Given the description of an element on the screen output the (x, y) to click on. 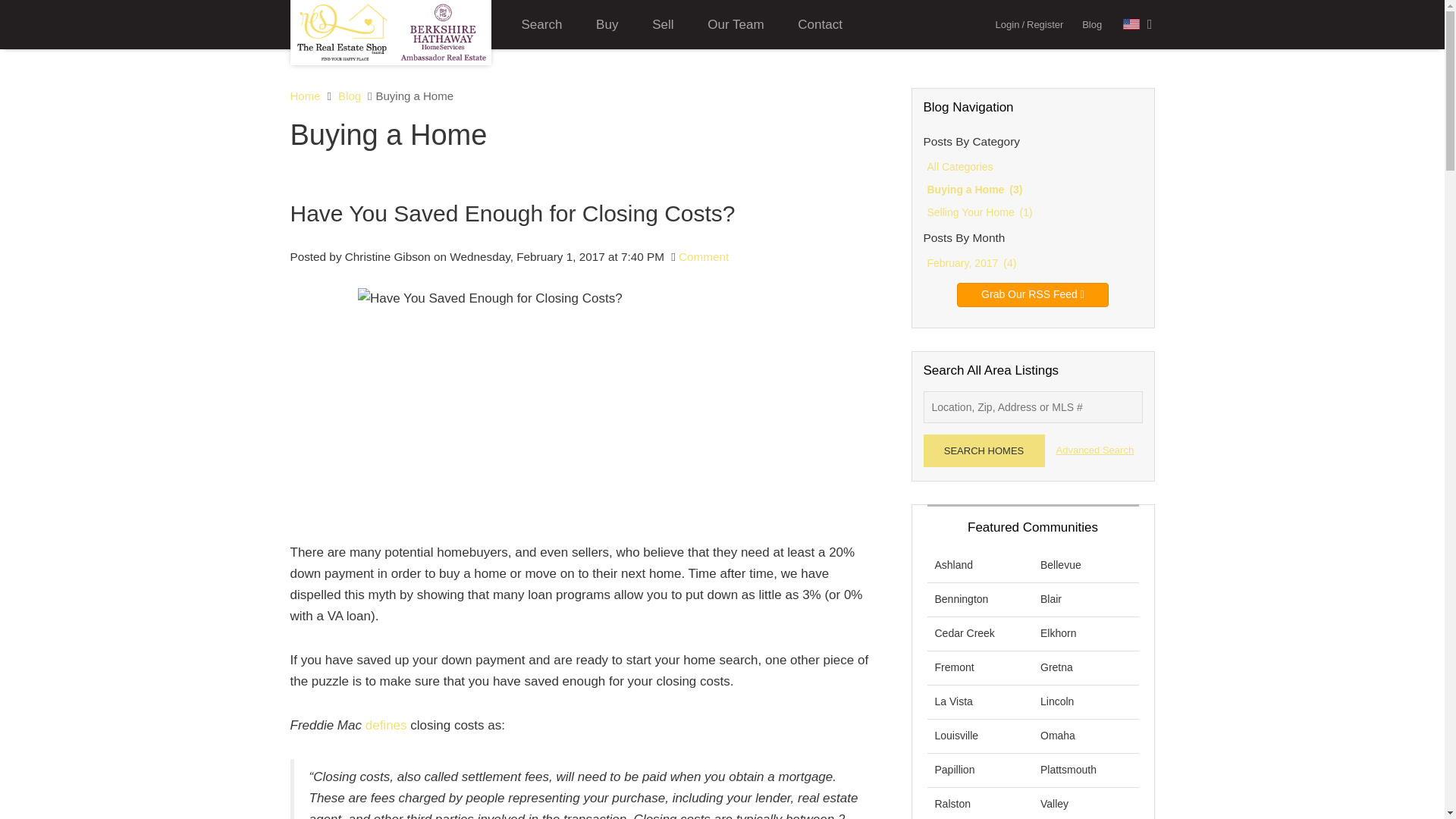
Select Language (1137, 24)
Buy (606, 24)
Search (542, 24)
Sell (662, 24)
Blog (1091, 24)
Have You Saved Enough for Closing Costs? (585, 407)
Have You Saved Enough for Closing Costs? (584, 213)
Register (1044, 24)
